Given the description of an element on the screen output the (x, y) to click on. 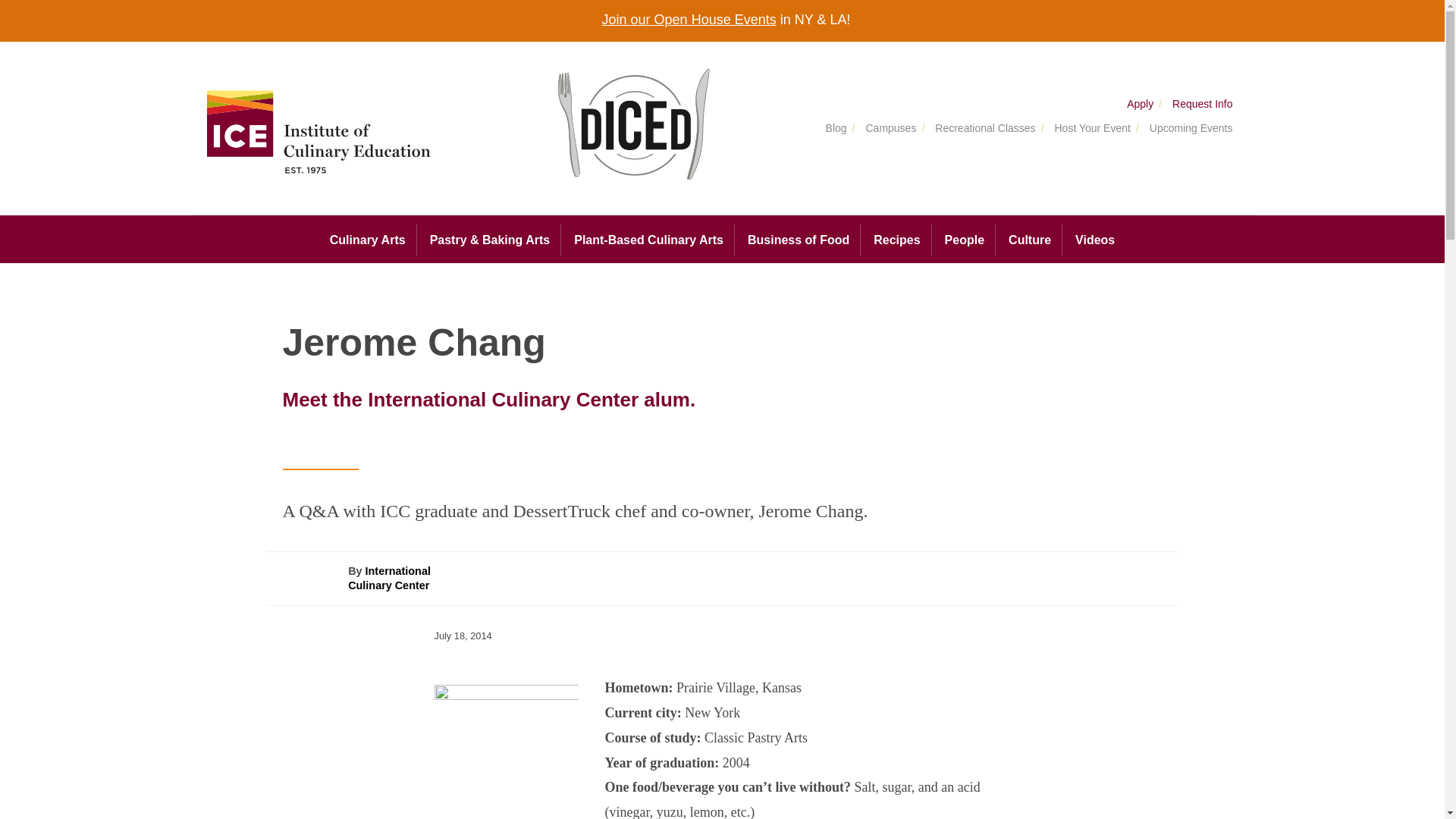
Request Info (1197, 104)
Upcoming Events (1187, 128)
Apply (1137, 104)
Campuses (886, 128)
People (964, 239)
Videos (1094, 239)
Blog (833, 128)
Host Your Event (1088, 128)
